Given the description of an element on the screen output the (x, y) to click on. 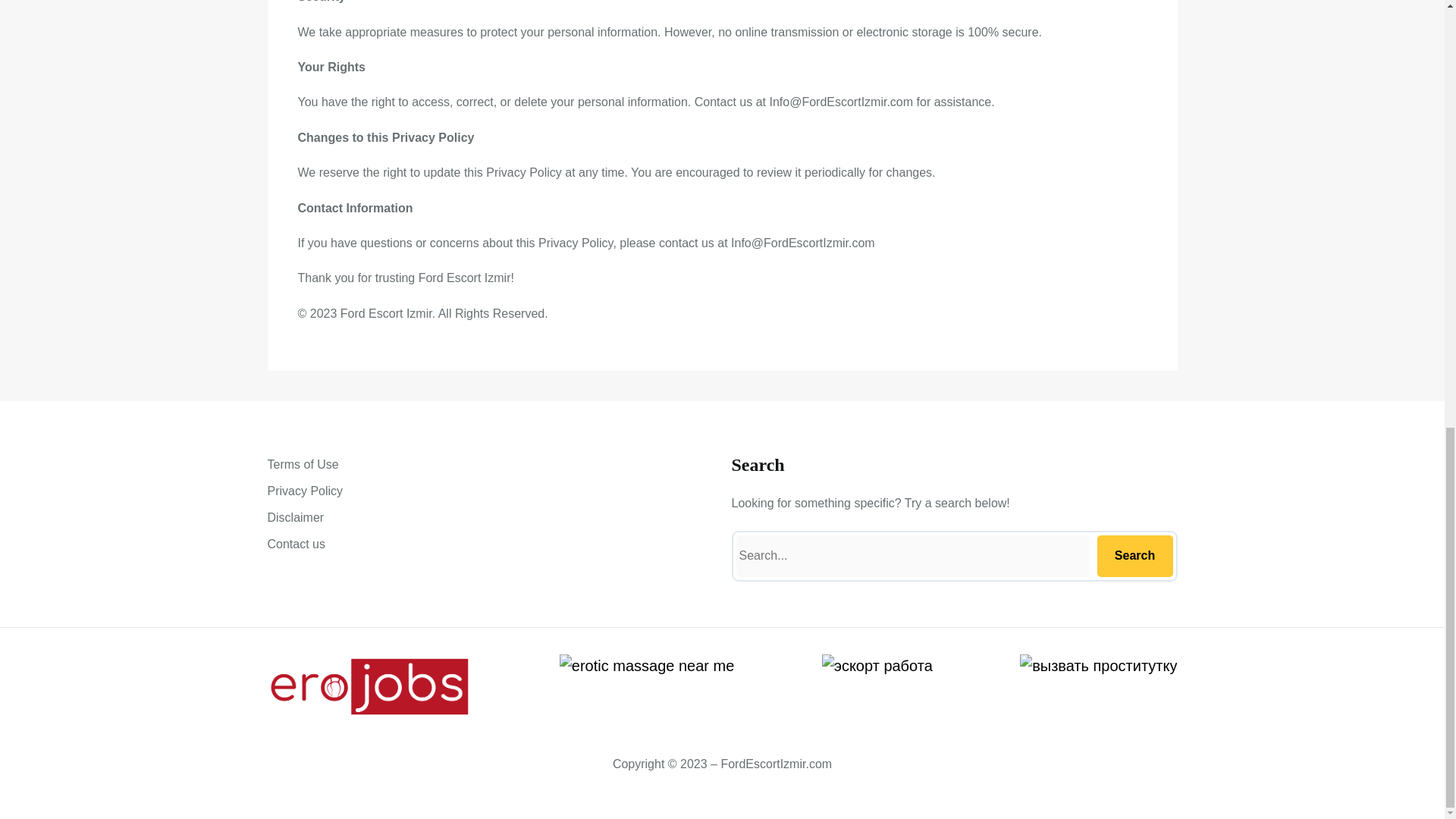
Privacy Policy (304, 490)
Search (1134, 556)
Disclaimer (294, 517)
Terms of Use (301, 464)
Contact us (295, 544)
